Given the description of an element on the screen output the (x, y) to click on. 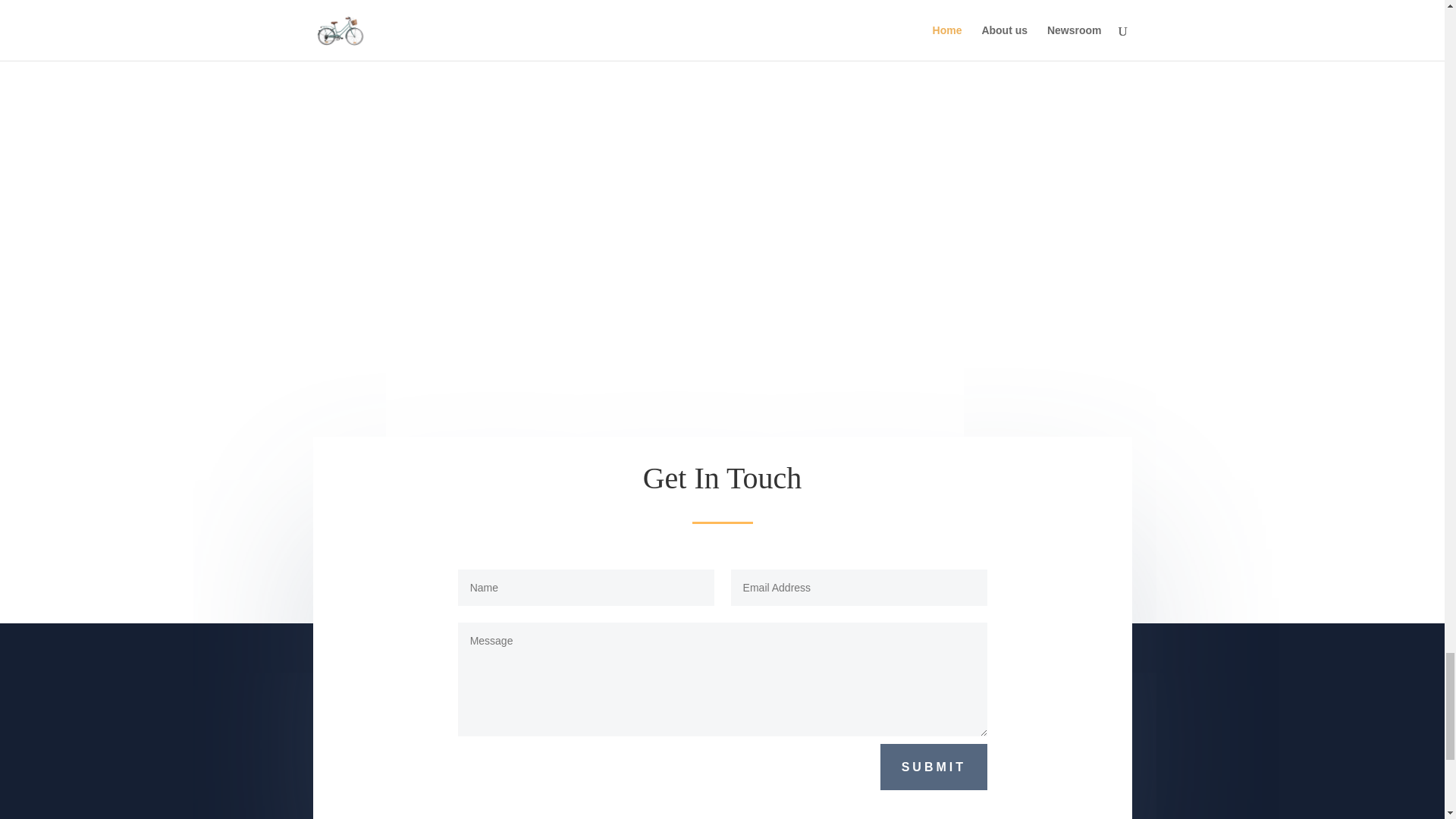
SUBMIT (933, 766)
